Given the description of an element on the screen output the (x, y) to click on. 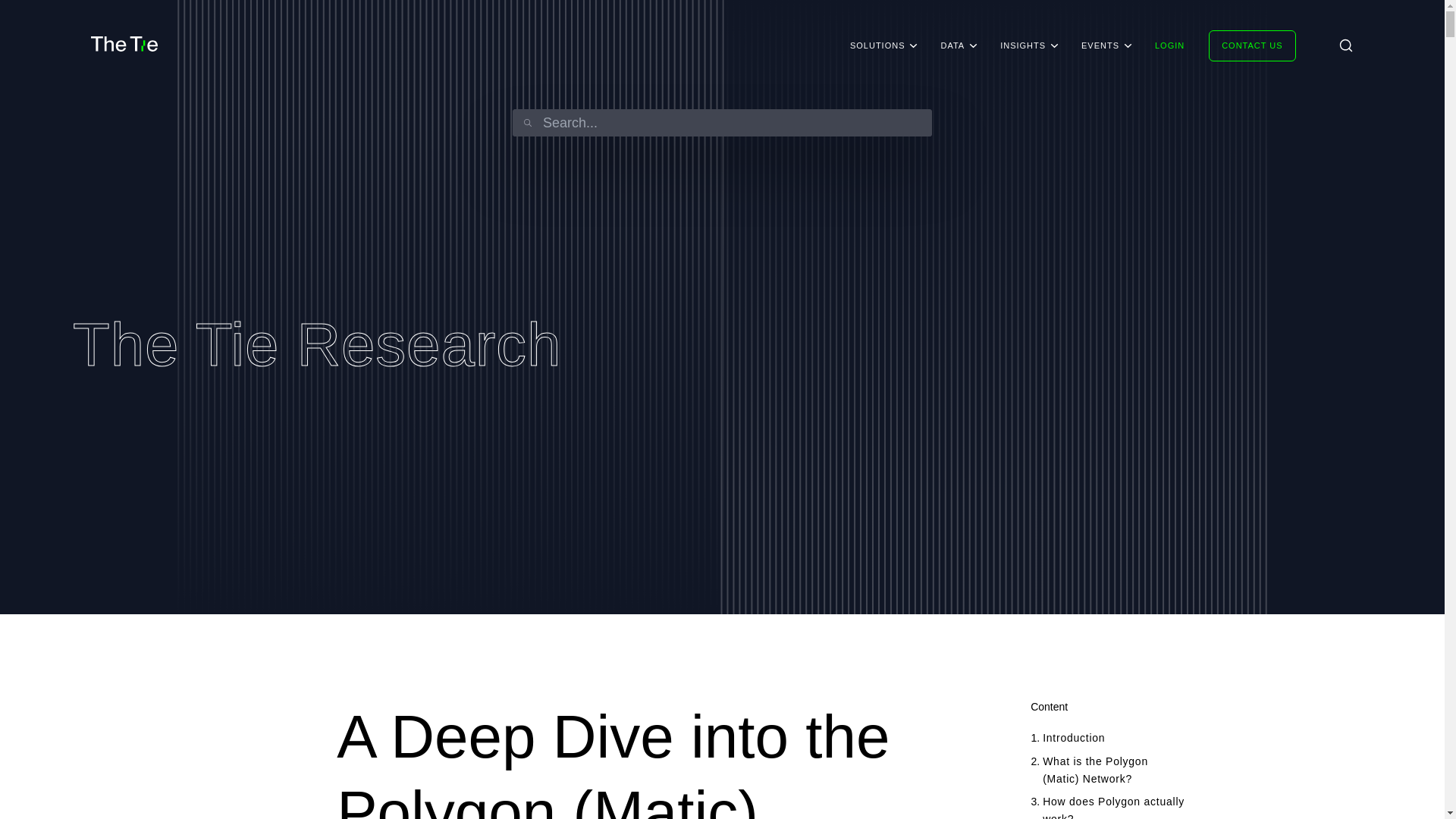
LOGIN (1169, 45)
EVENTS (1100, 45)
INSIGHTS (1022, 45)
SOLUTIONS (877, 45)
DATA (951, 45)
CONTACT US (1251, 45)
